Given the description of an element on the screen output the (x, y) to click on. 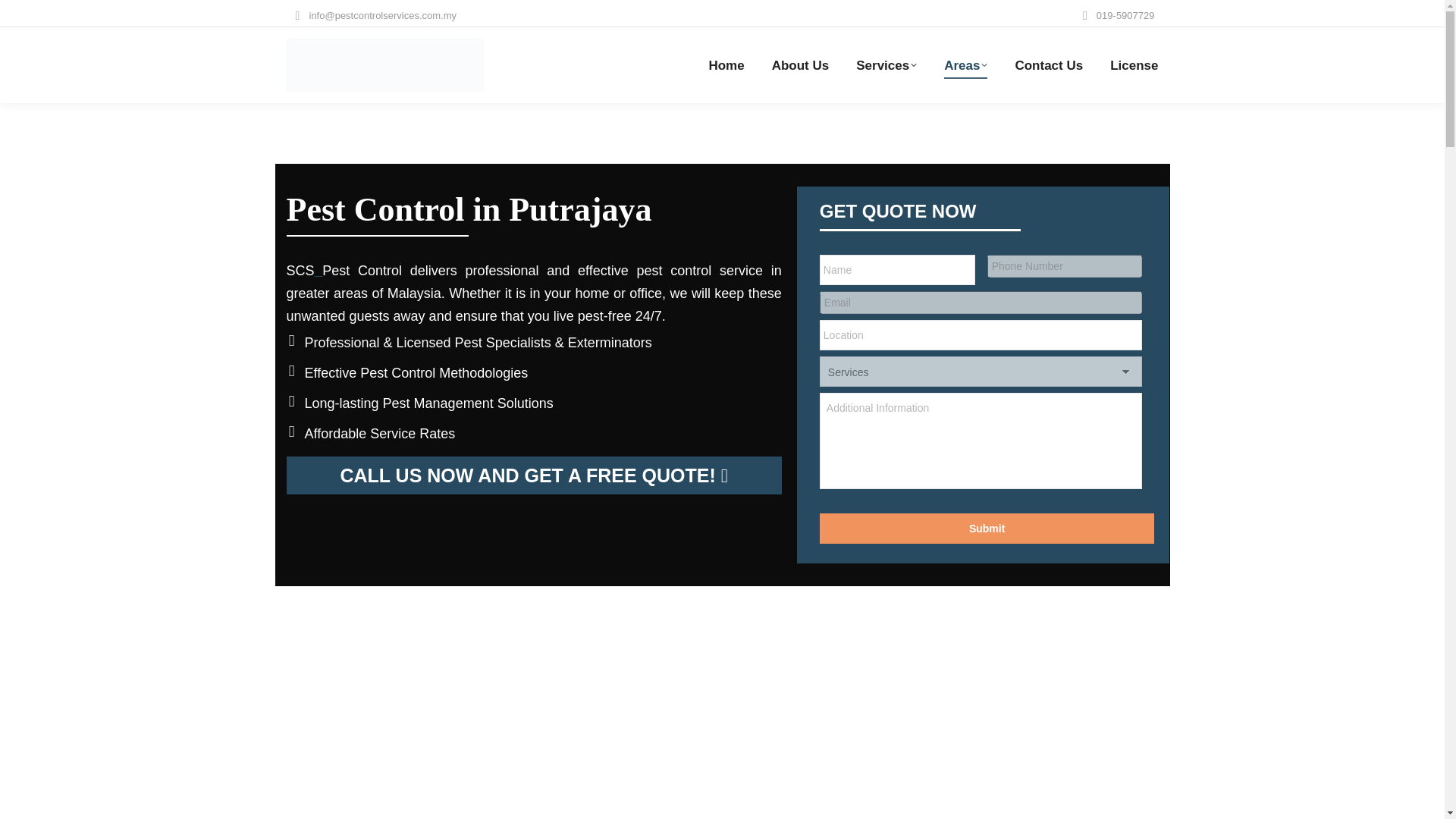
Home (725, 65)
Areas (965, 65)
019-5907729 (1115, 15)
About Us (800, 65)
Services (886, 65)
Submit (986, 528)
